Given the description of an element on the screen output the (x, y) to click on. 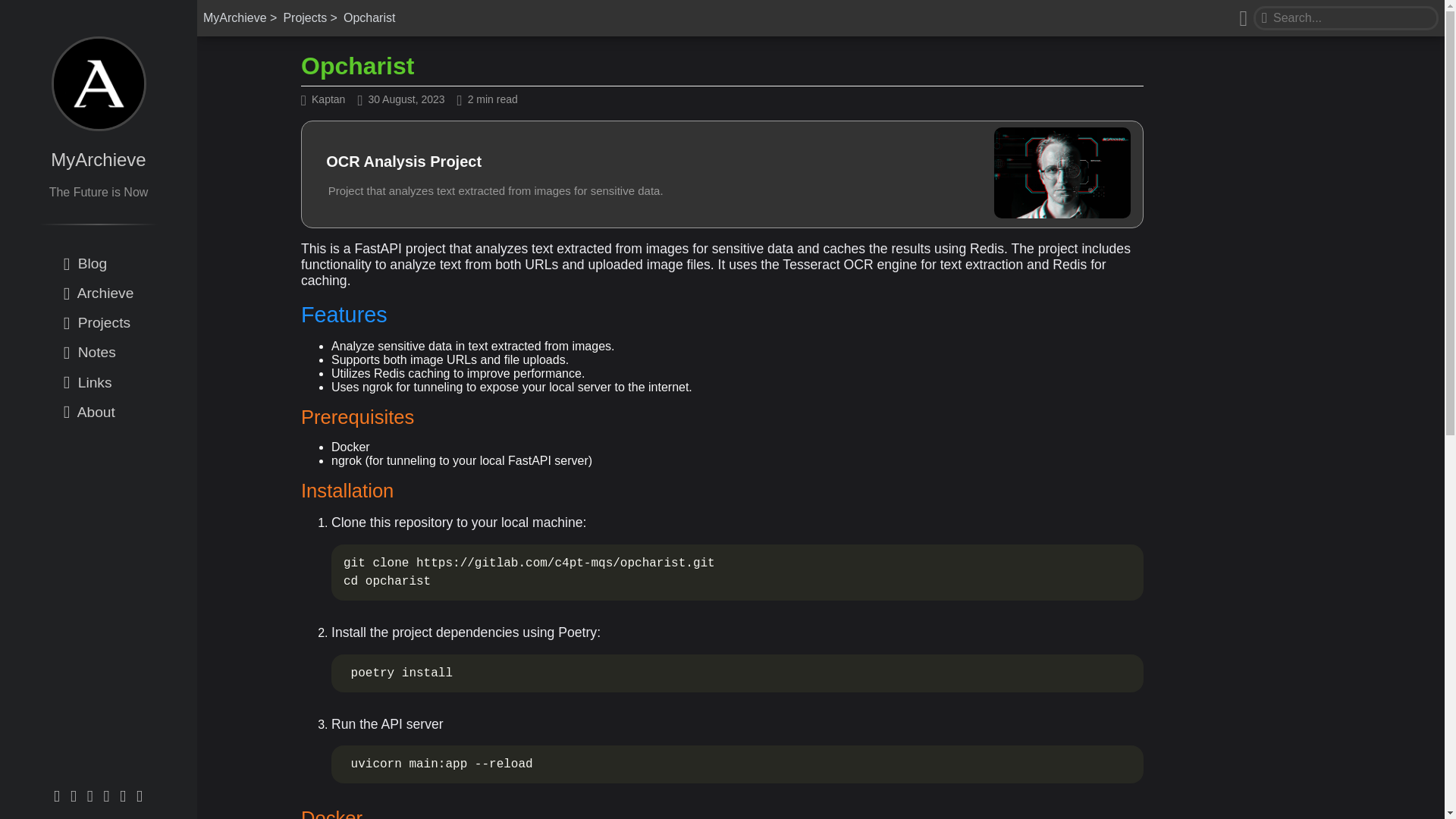
MyArchieve (97, 159)
  Archieve (98, 293)
Kaptan (328, 100)
  Links (98, 382)
  About (98, 411)
  Blog (98, 263)
  Projects (98, 323)
OCR Analysis Project (402, 161)
  Notes (98, 352)
